Given the description of an element on the screen output the (x, y) to click on. 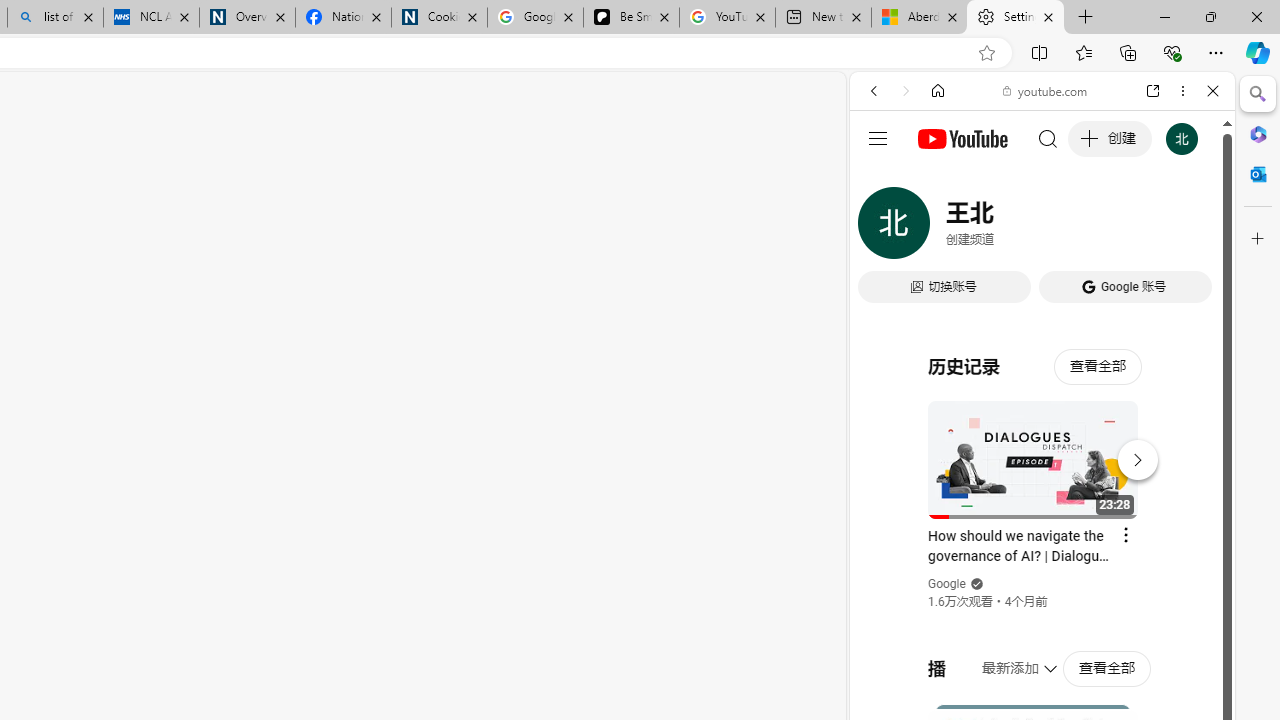
Search videos from youtube.com (1005, 657)
Forward (906, 91)
Search Filter, Search Tools (1093, 228)
#you (1042, 445)
Cookies (439, 17)
Trailer #2 [HD] (1042, 594)
